Given the description of an element on the screen output the (x, y) to click on. 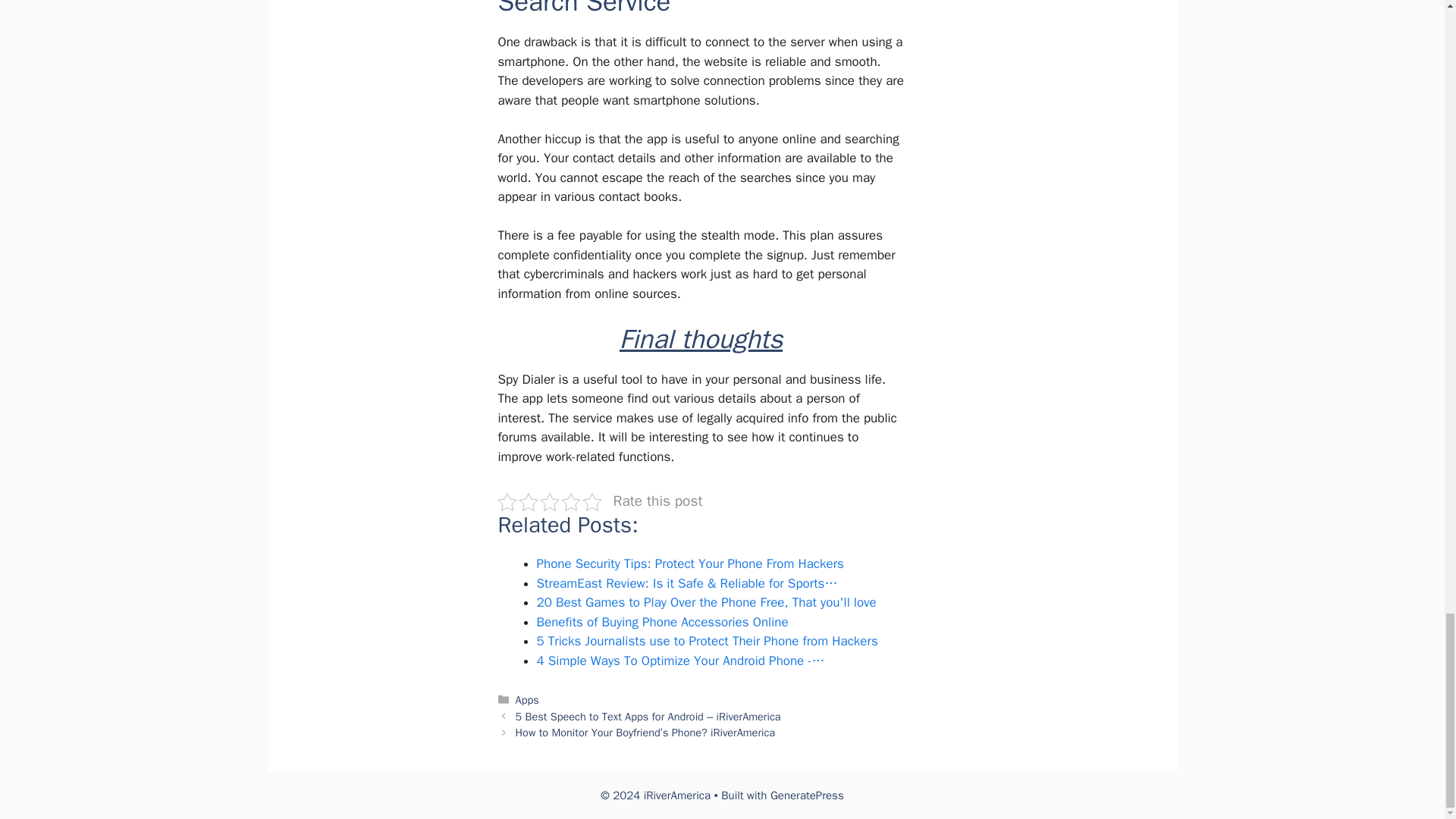
Phone Security Tips: Protect Your Phone From Hackers (690, 563)
Benefits of Buying Phone Accessories Online (663, 621)
5 Tricks Journalists use to Protect Their Phone from Hackers (707, 641)
20 Best Games to Play Over the Phone Free, That you'll love (706, 602)
Apps (526, 699)
